Given the description of an element on the screen output the (x, y) to click on. 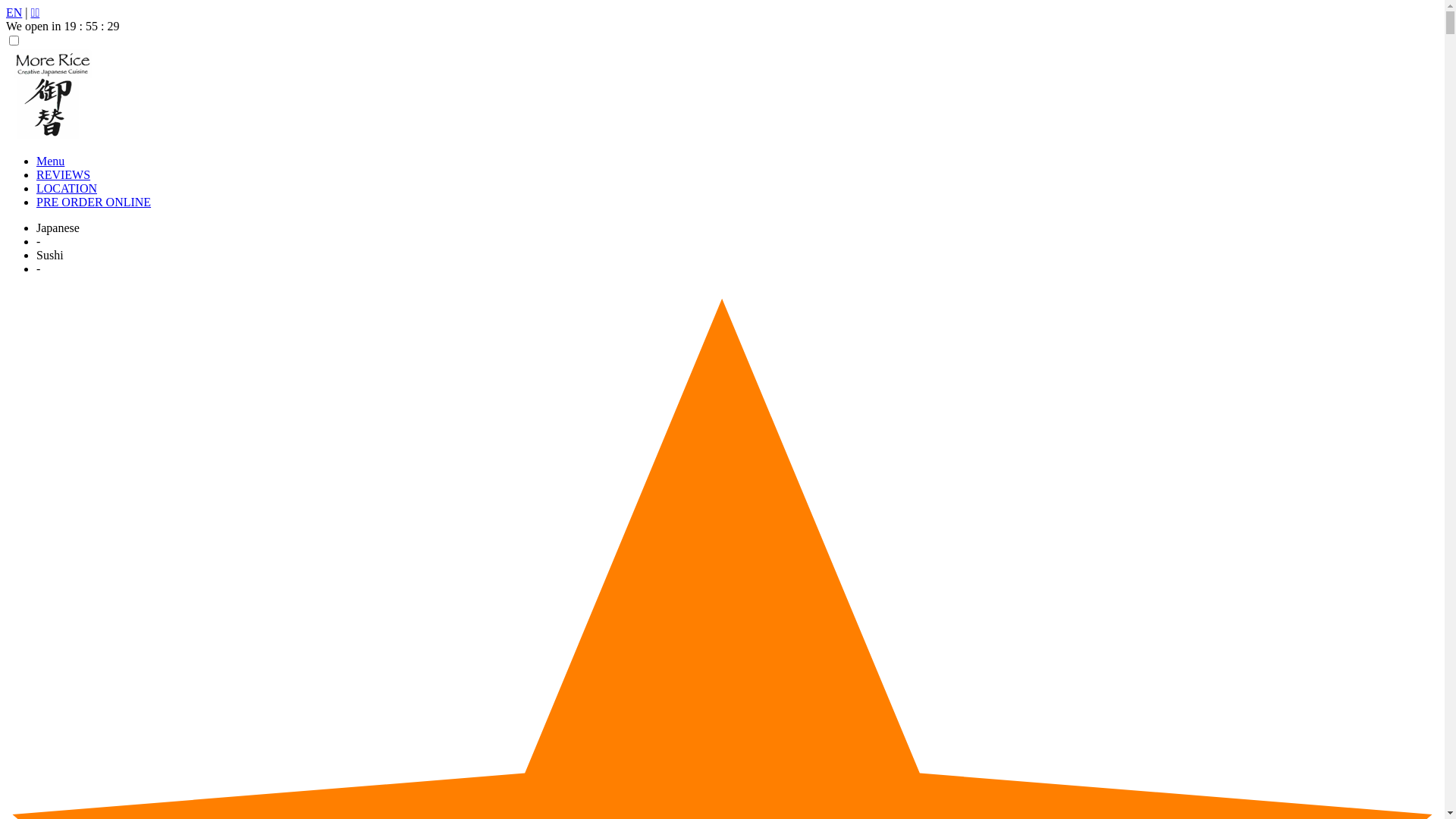
PRE ORDER ONLINE Element type: text (93, 201)
EN Element type: text (13, 12)
REVIEWS Element type: text (63, 174)
Menu Element type: text (50, 160)
LOCATION Element type: text (66, 188)
